Given the description of an element on the screen output the (x, y) to click on. 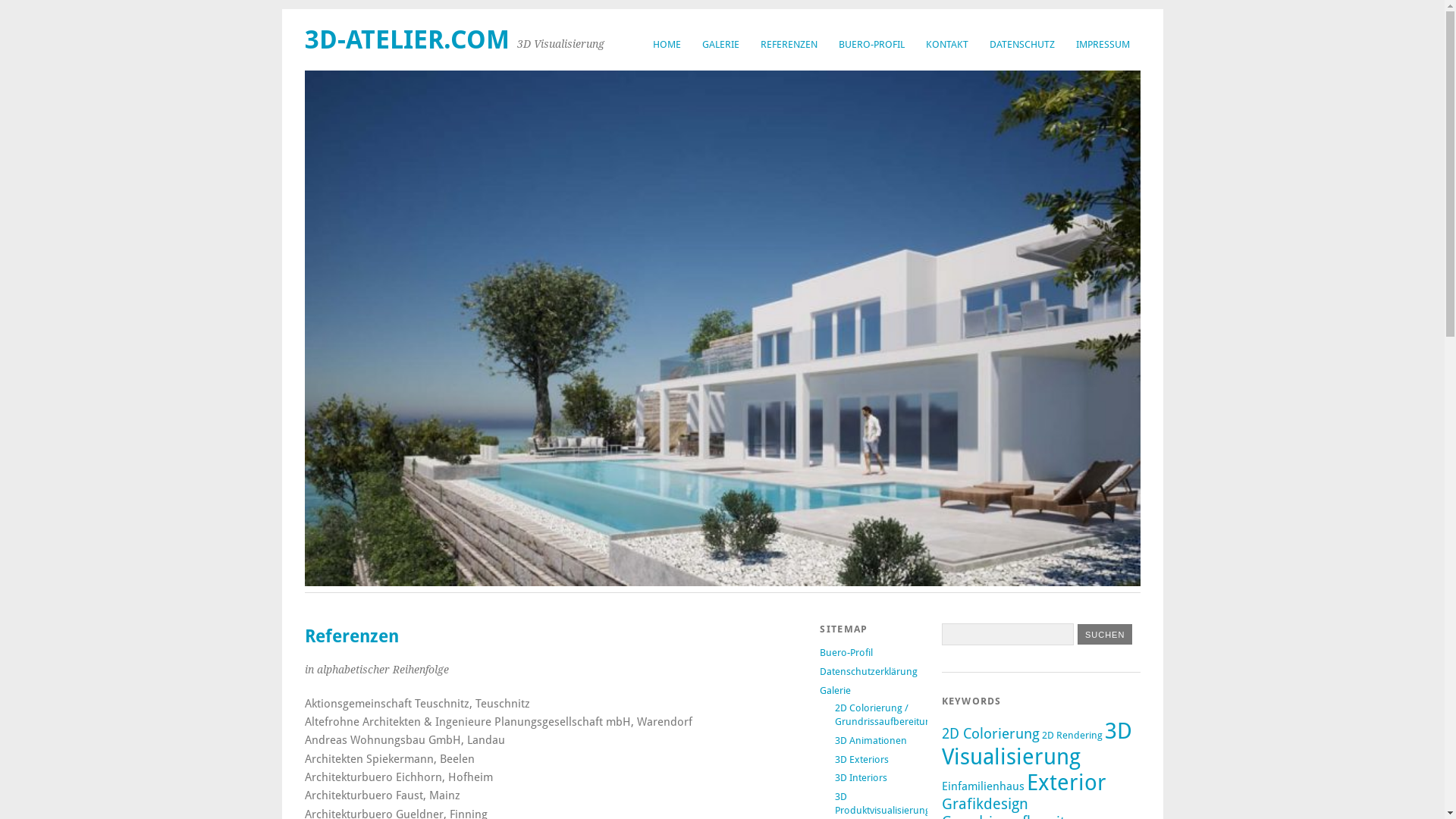
DATENSCHUTZ Element type: text (1021, 43)
3D Produktvisualisierung Element type: text (882, 802)
Einfamilienhaus Element type: text (982, 786)
3D Visualisierung Element type: text (1036, 743)
Buero-Profil Element type: text (845, 652)
GALERIE Element type: text (720, 43)
KONTAKT Element type: text (946, 43)
3D Animationen Element type: text (870, 740)
Grafikdesign Element type: text (984, 803)
BUERO-PROFIL Element type: text (871, 43)
Exterior Element type: text (1066, 782)
2D Colorierung Element type: text (990, 733)
IMPRESSUM Element type: text (1101, 43)
2D Rendering Element type: text (1071, 734)
HOME Element type: text (665, 43)
3D Exteriors Element type: text (861, 759)
REFERENZEN Element type: text (788, 43)
Galerie Element type: text (834, 690)
3D-ATELIER.COM Element type: text (406, 39)
Suchen Element type: text (1104, 634)
3D Interiors Element type: text (860, 777)
2D Colorierung / Grundrissaufbereitung Element type: text (885, 714)
